Given the description of an element on the screen output the (x, y) to click on. 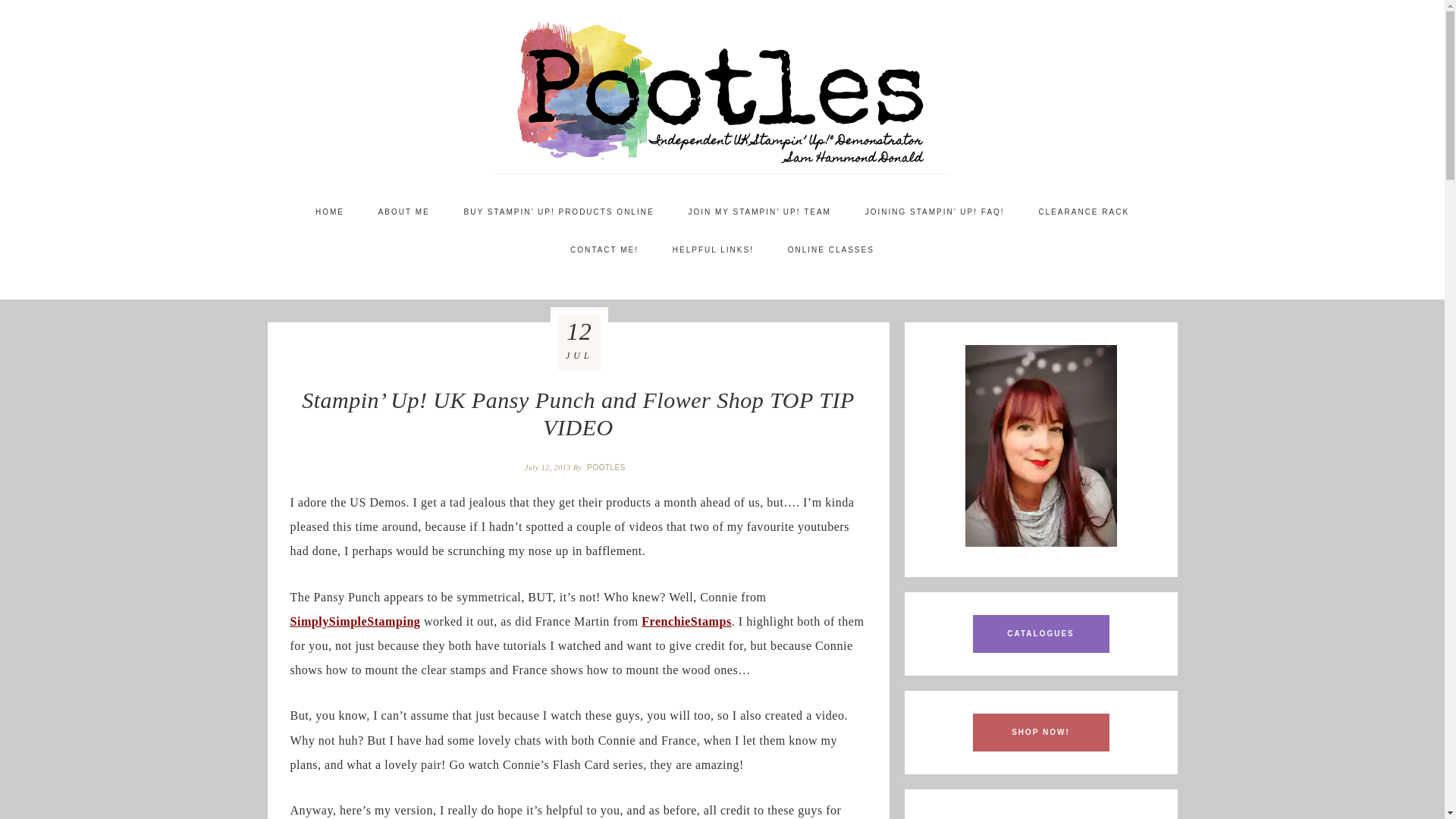
HELPFUL LINKS! (713, 249)
FrenchieStamps (686, 621)
CONTACT ME! (603, 249)
ABOUT ME (403, 211)
ONLINE CLASSES (831, 249)
CLEARANCE RACK (1083, 211)
SimplySimpleStamping (354, 621)
POOTLES (607, 467)
HOME (329, 211)
